Given the description of an element on the screen output the (x, y) to click on. 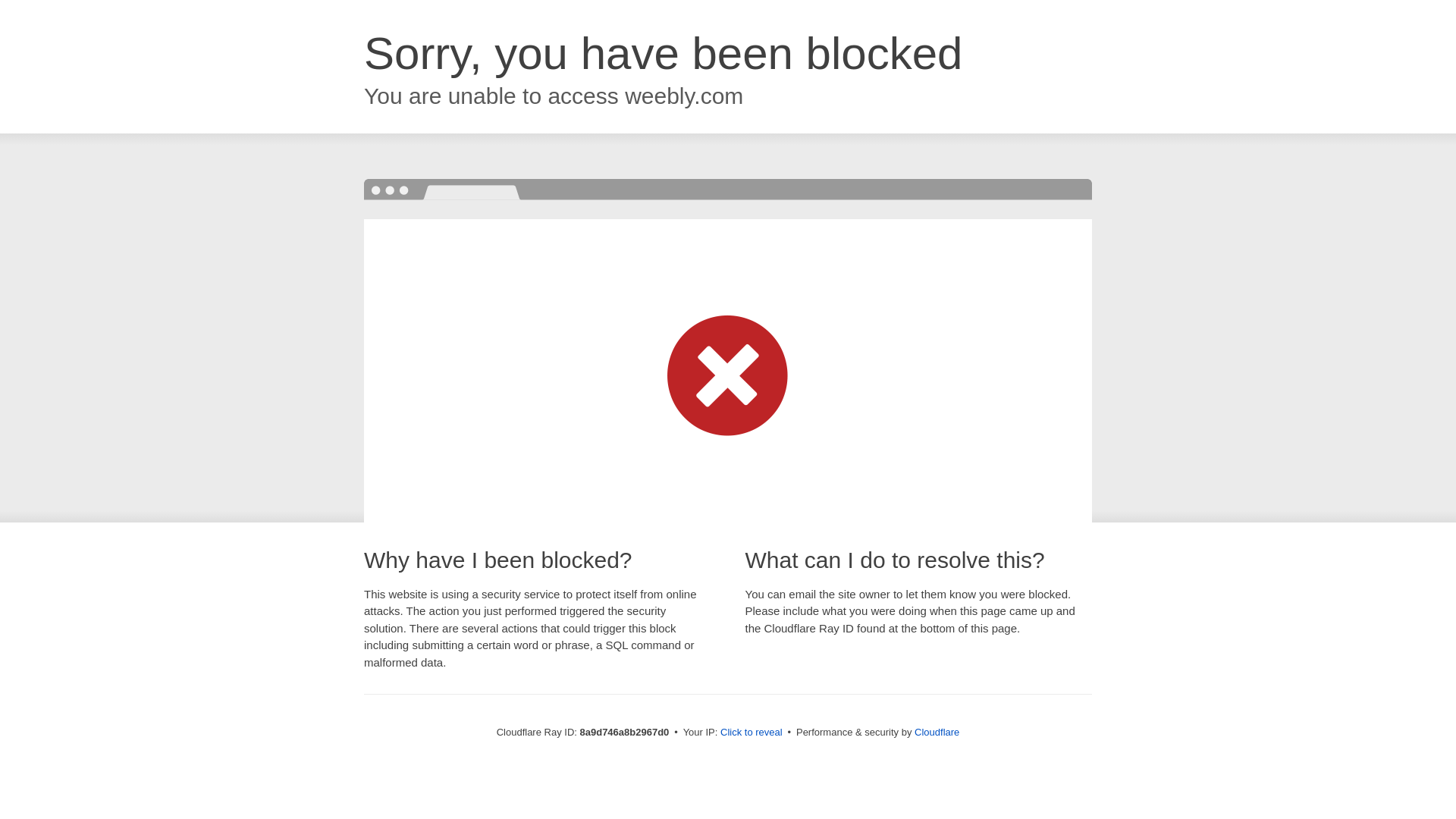
Click to reveal (751, 732)
Cloudflare (936, 731)
